Given the description of an element on the screen output the (x, y) to click on. 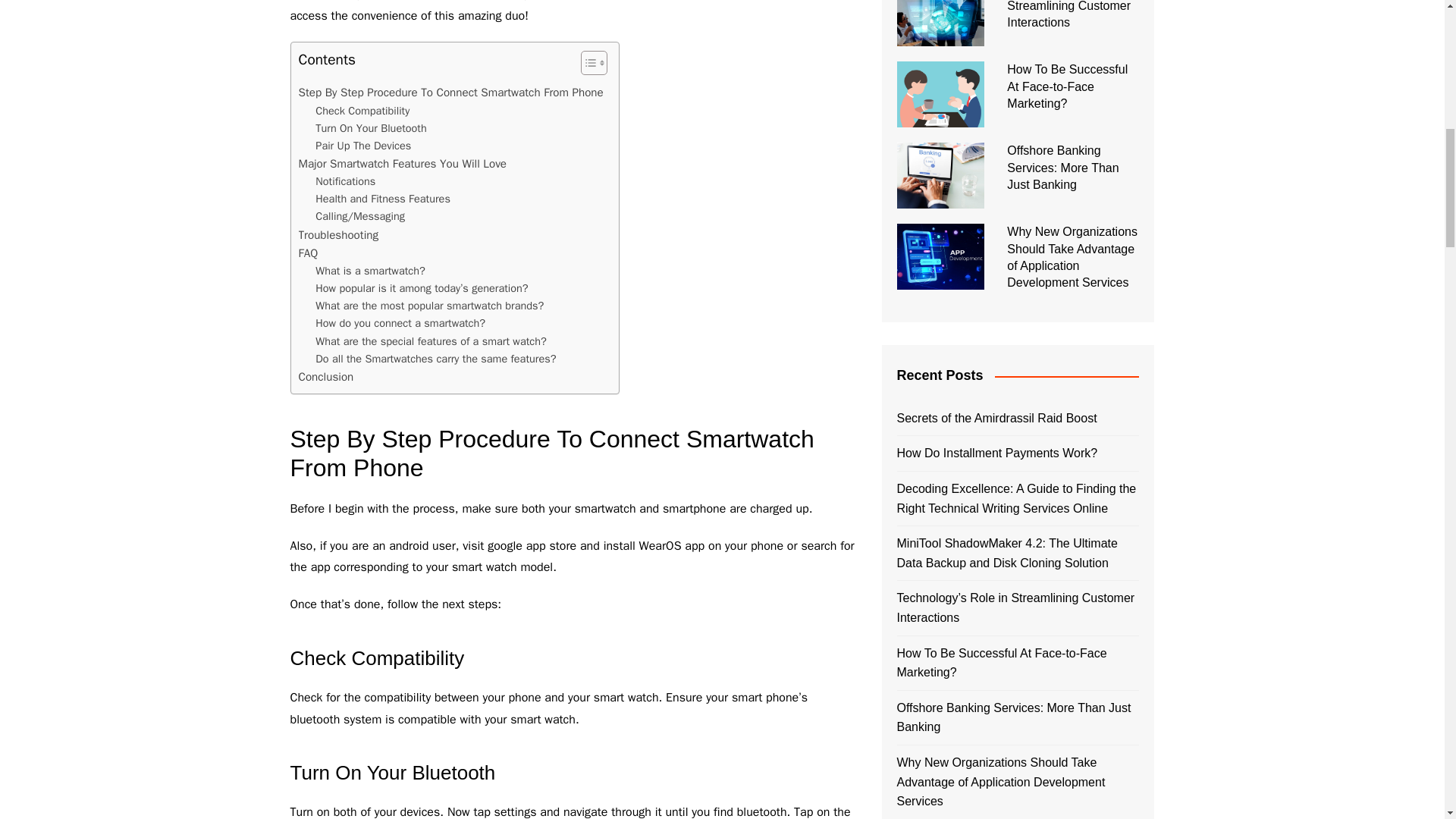
What are the special features of a smart watch? (430, 341)
What is a smartwatch? (370, 271)
Notifications (345, 181)
Troubleshooting (338, 235)
Step By Step Procedure To Connect Smartwatch From Phone (451, 92)
Pair Up The Devices (362, 145)
What are the most popular smartwatch brands? (429, 305)
FAQ (308, 253)
Do all the Smartwatches carry the same features? (435, 358)
How do you connect a smartwatch? (399, 323)
Major Smartwatch Features You Will Love (402, 163)
